Given the description of an element on the screen output the (x, y) to click on. 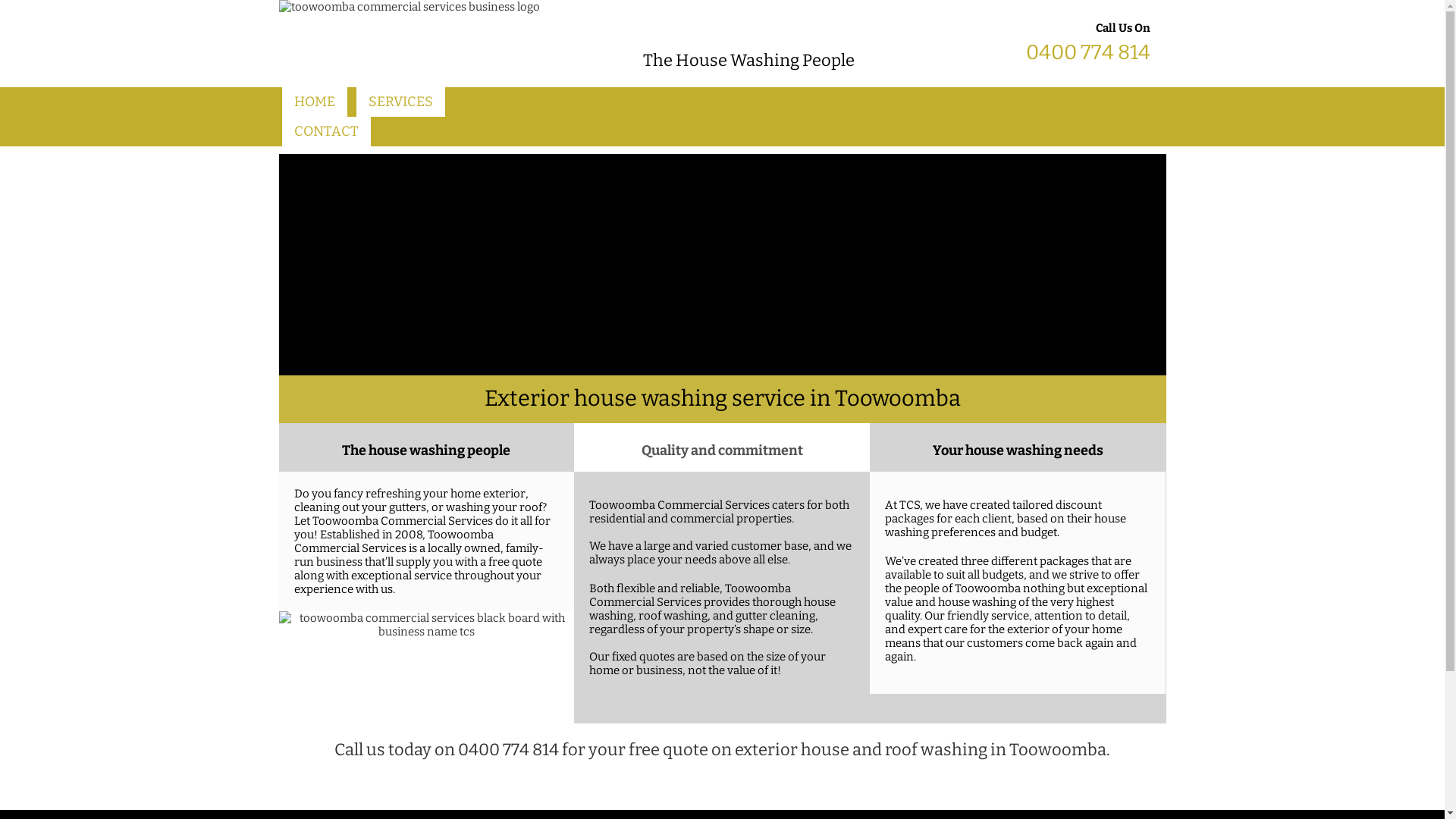
0400 774 814 Element type: text (508, 749)
CONTACT Element type: text (326, 131)
toowoomba commercial services business logo Element type: hover (409, 43)
SERVICES Element type: text (400, 101)
0400 774 814 Element type: text (1088, 52)
HOME Element type: text (314, 101)
